Given the description of an element on the screen output the (x, y) to click on. 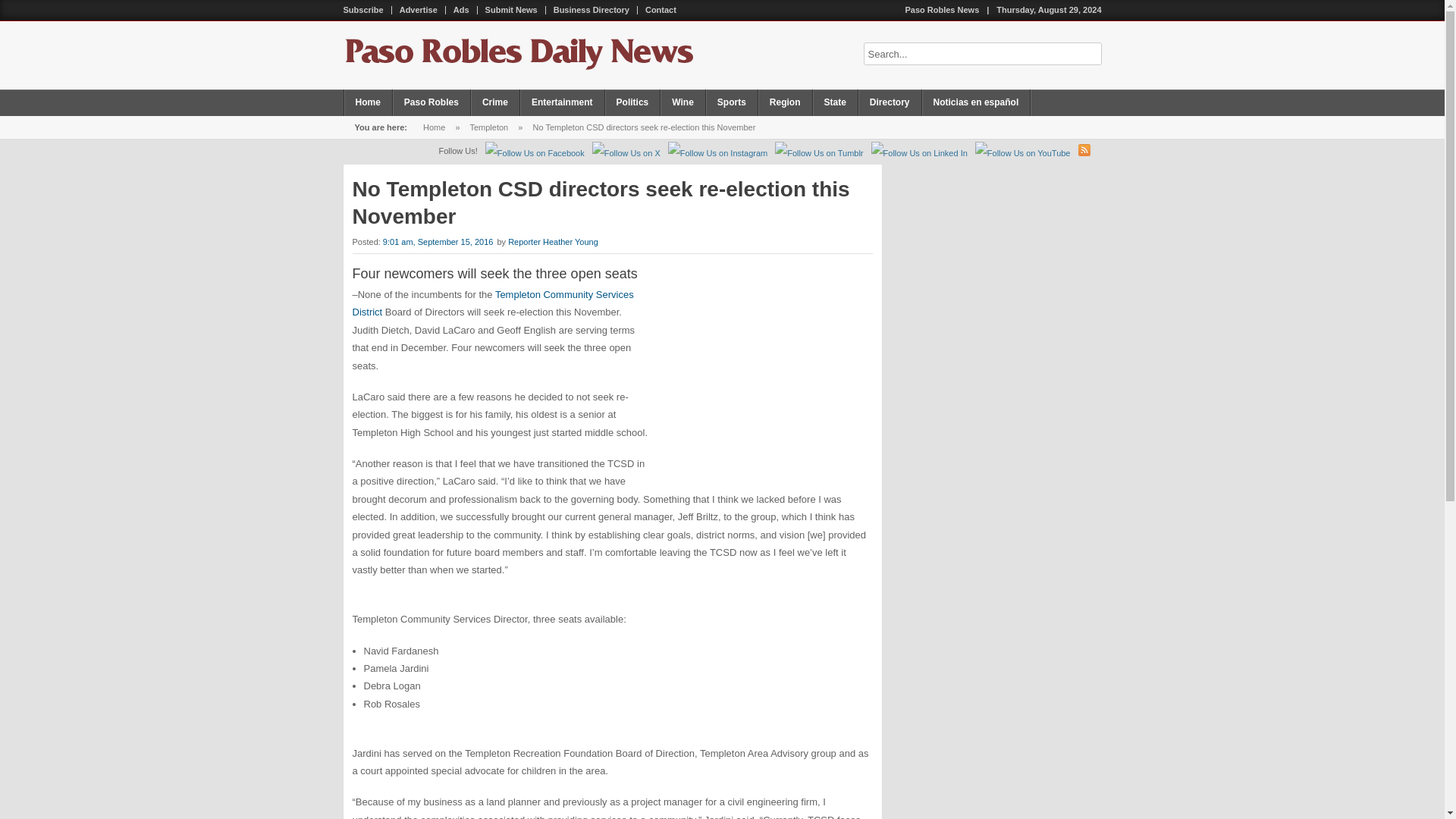
Follow Us on Linked In (919, 152)
Home (434, 126)
Region (785, 102)
Follow Us on Tumblr (818, 152)
Templeton (488, 126)
Paso Robles Business Directory (591, 9)
Follow Us on RSS (1084, 150)
Follow Us on Instagram (718, 152)
9:01 am (438, 241)
State (835, 102)
